Given the description of an element on the screen output the (x, y) to click on. 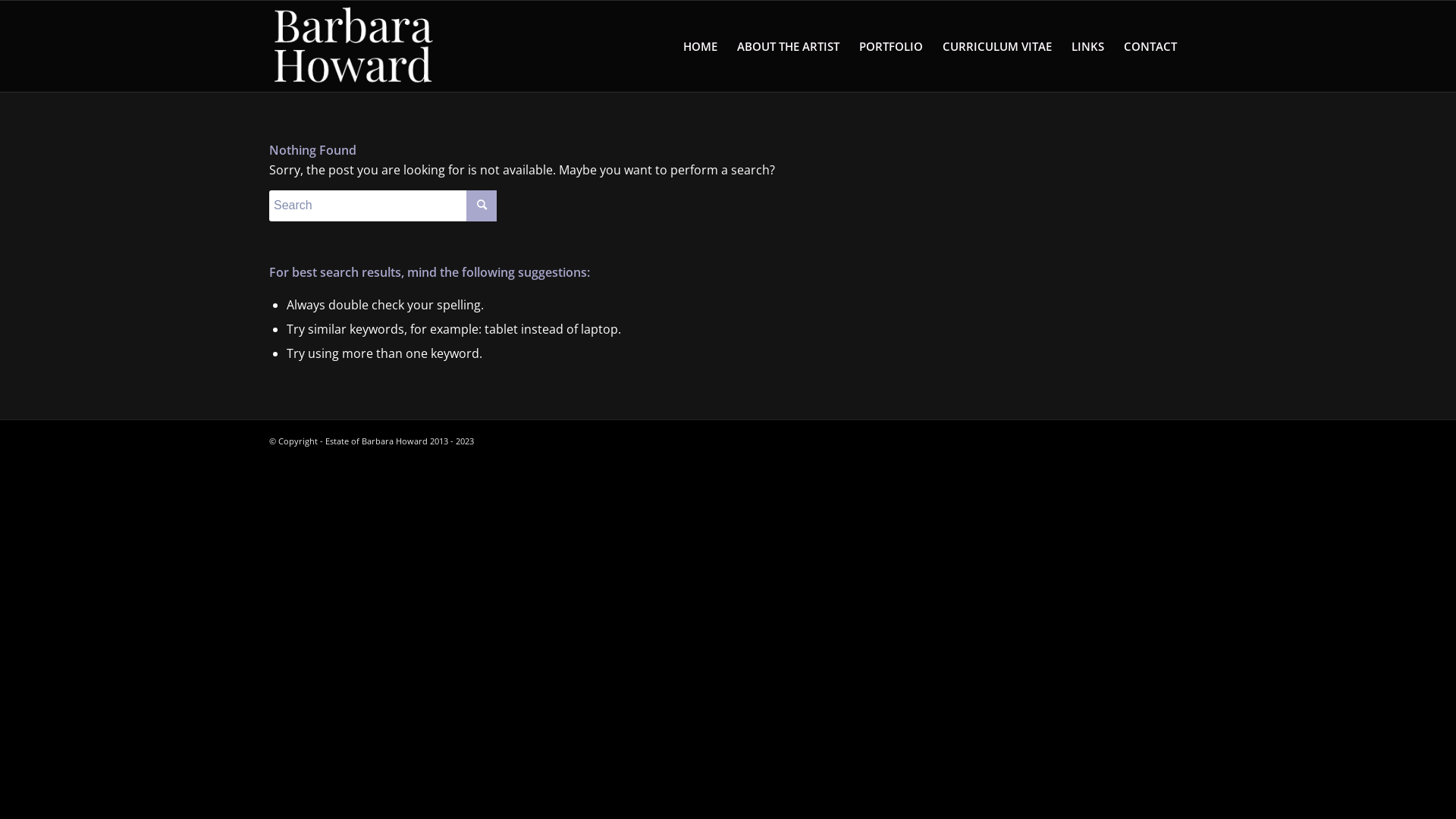
PORTFOLIO Element type: text (890, 45)
HOME Element type: text (700, 45)
CURRICULUM VITAE Element type: text (996, 45)
ABOUT THE ARTIST Element type: text (788, 45)
LINKS Element type: text (1087, 45)
CONTACT Element type: text (1149, 45)
barbara_howard_logo_3 Element type: hover (352, 45)
